Given the description of an element on the screen output the (x, y) to click on. 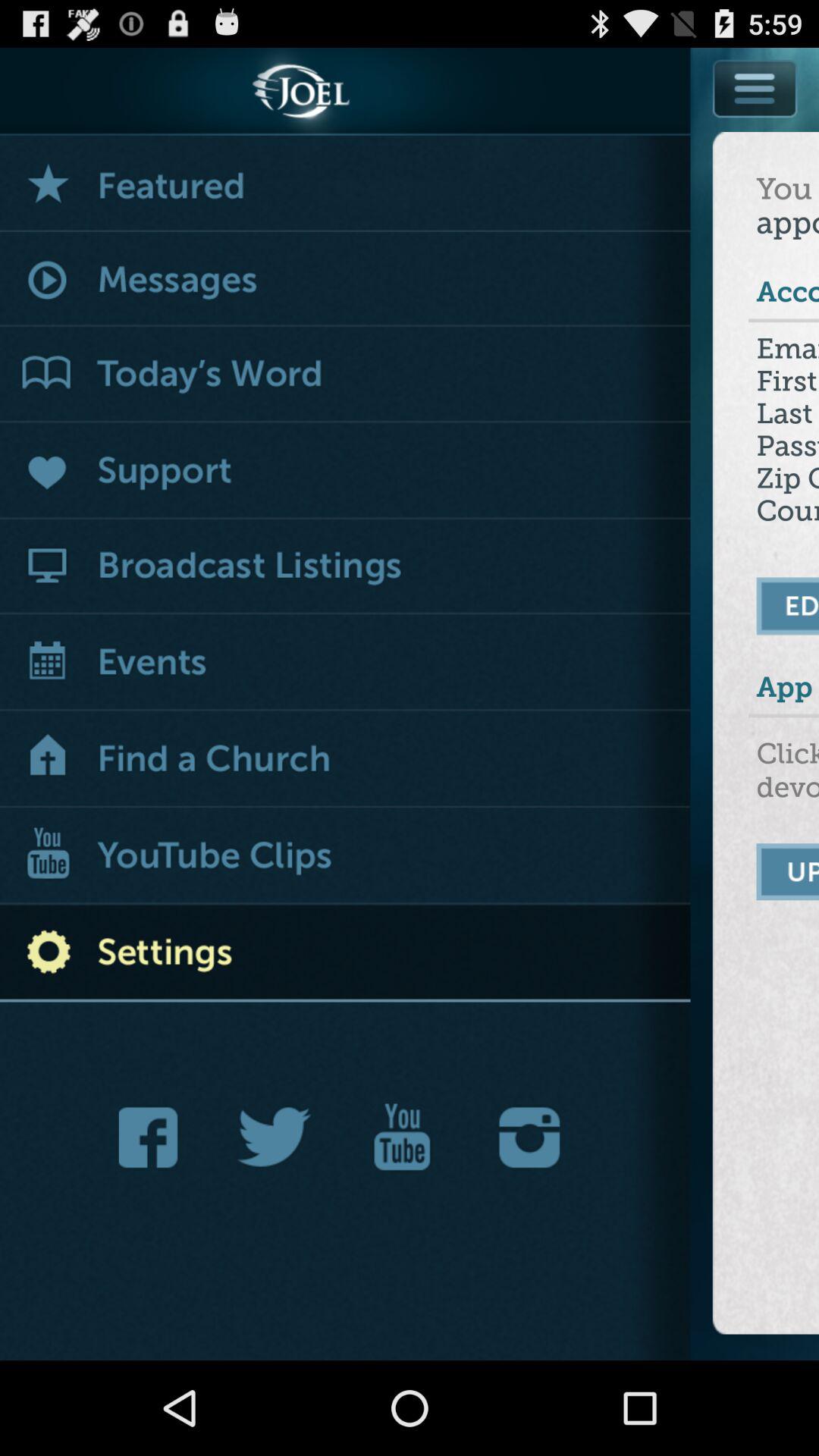
view youtube clips (345, 856)
